Given the description of an element on the screen output the (x, y) to click on. 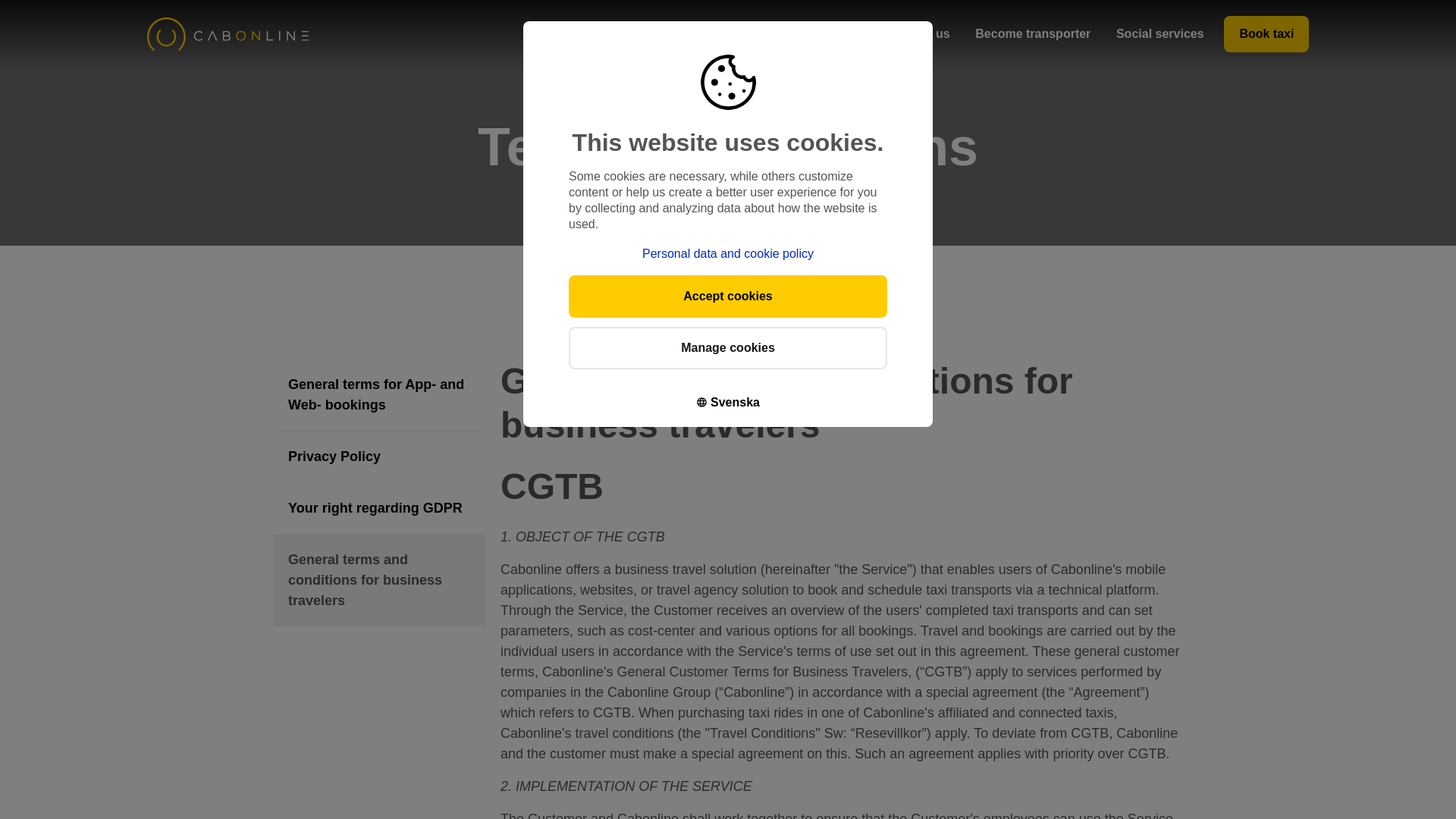
Book taxi (1266, 33)
Personal data and cookie policy (727, 253)
Drive with us (912, 33)
General terms for App- and Web- bookings (378, 394)
General terms and conditions for business travelers (378, 580)
Become transporter (1032, 33)
Business customer (792, 33)
Social services (1160, 33)
Privacy Policy (378, 456)
Travel with us (671, 33)
Your right regarding GDPR (378, 508)
Help widget launcher (1379, 781)
